Given the description of an element on the screen output the (x, y) to click on. 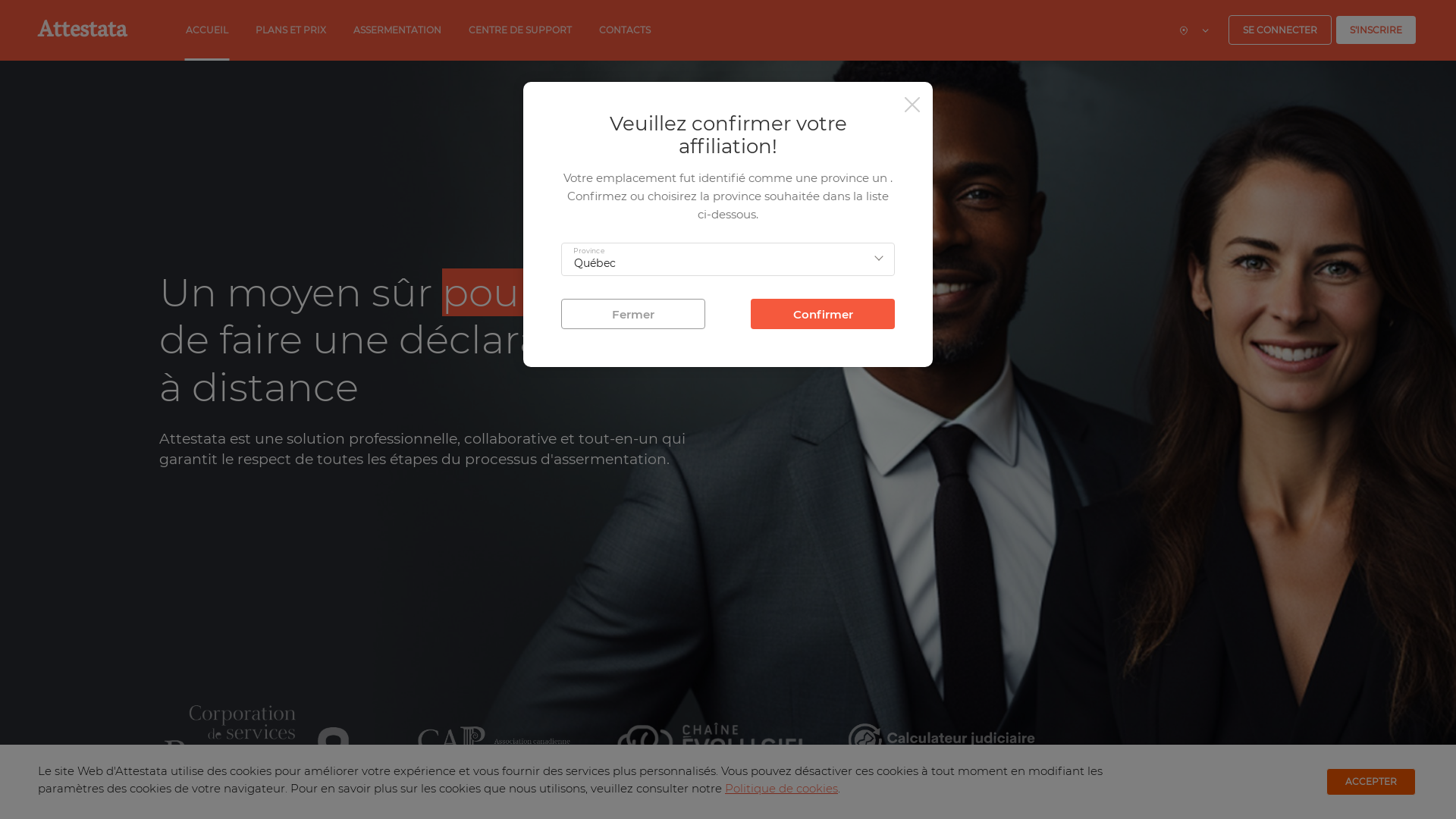
ACCUEIL Element type: text (206, 29)
SE CONNECTER Element type: text (1279, 29)
CENTRE DE SUPPORT Element type: text (519, 29)
ACCEPTER Element type: text (1370, 781)
ASSERMENTATION Element type: text (397, 29)
Politique de cookies Element type: text (780, 788)
Fermer Element type: text (633, 313)
Confirmer Element type: text (822, 313)
S'INSCRIRE Element type: text (1375, 29)
CONTACTS Element type: text (624, 29)
PLANS ET PRIX Element type: text (290, 29)
Attestata Element type: text (81, 31)
